Given the description of an element on the screen output the (x, y) to click on. 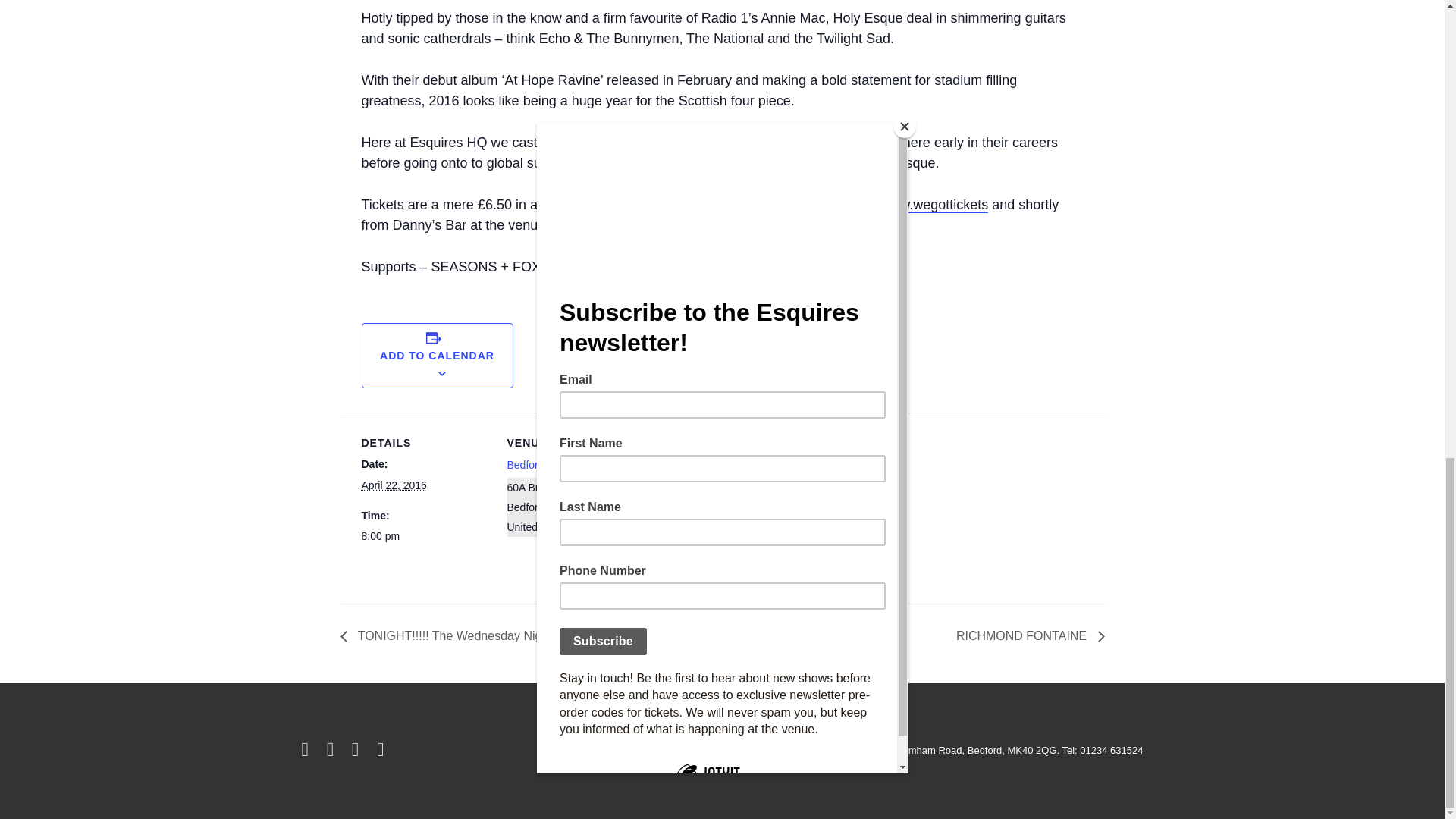
2016-04-22 (393, 485)
TONIGHT!!!!! The Wednesday Night Jam at Bedford Esquires (517, 635)
email (382, 752)
instagram (358, 752)
facebook (333, 752)
Mr. (659, 464)
Bedford Esquires (547, 464)
twitter (308, 752)
ADD TO CALENDAR (437, 355)
2016-04-22 (424, 536)
RICHMOND FONTAINE (1026, 635)
